Given the description of an element on the screen output the (x, y) to click on. 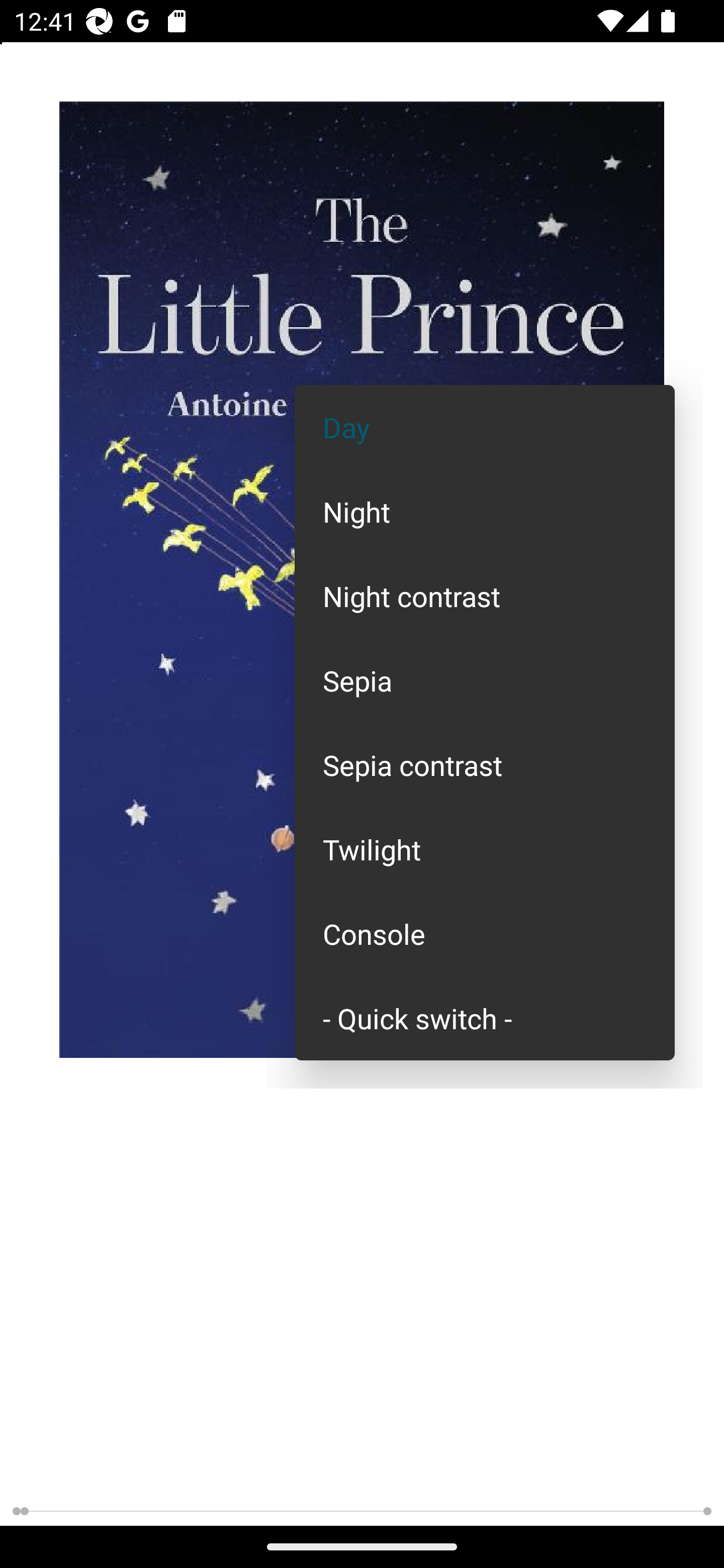
Day (484, 426)
Night (484, 510)
Night contrast (484, 595)
Sepia (484, 680)
Sepia contrast (484, 764)
Twilight (484, 849)
Console (484, 933)
- Quick switch - (484, 1017)
